Given the description of an element on the screen output the (x, y) to click on. 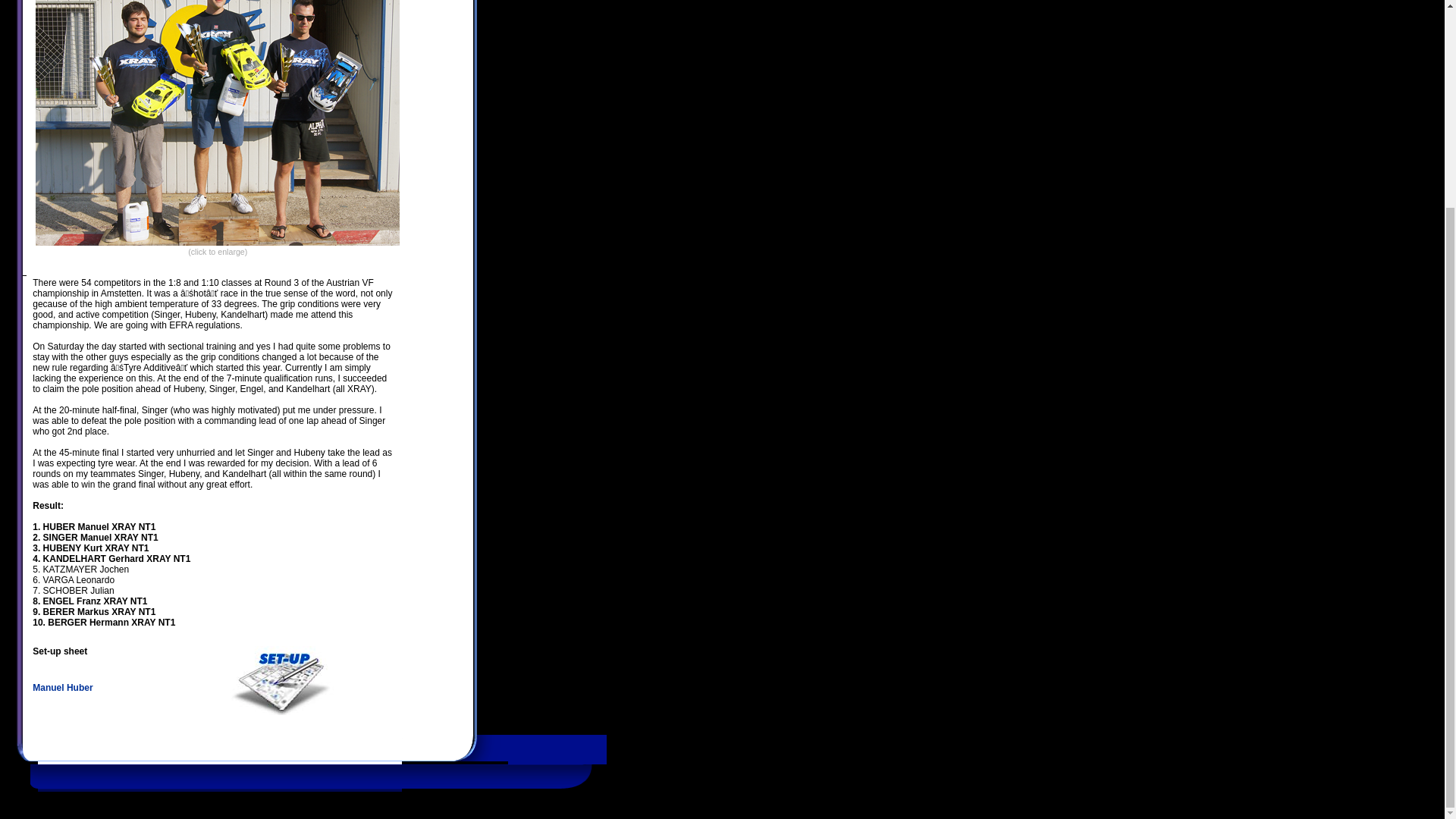
Manuel Huber (62, 687)
